Given the description of an element on the screen output the (x, y) to click on. 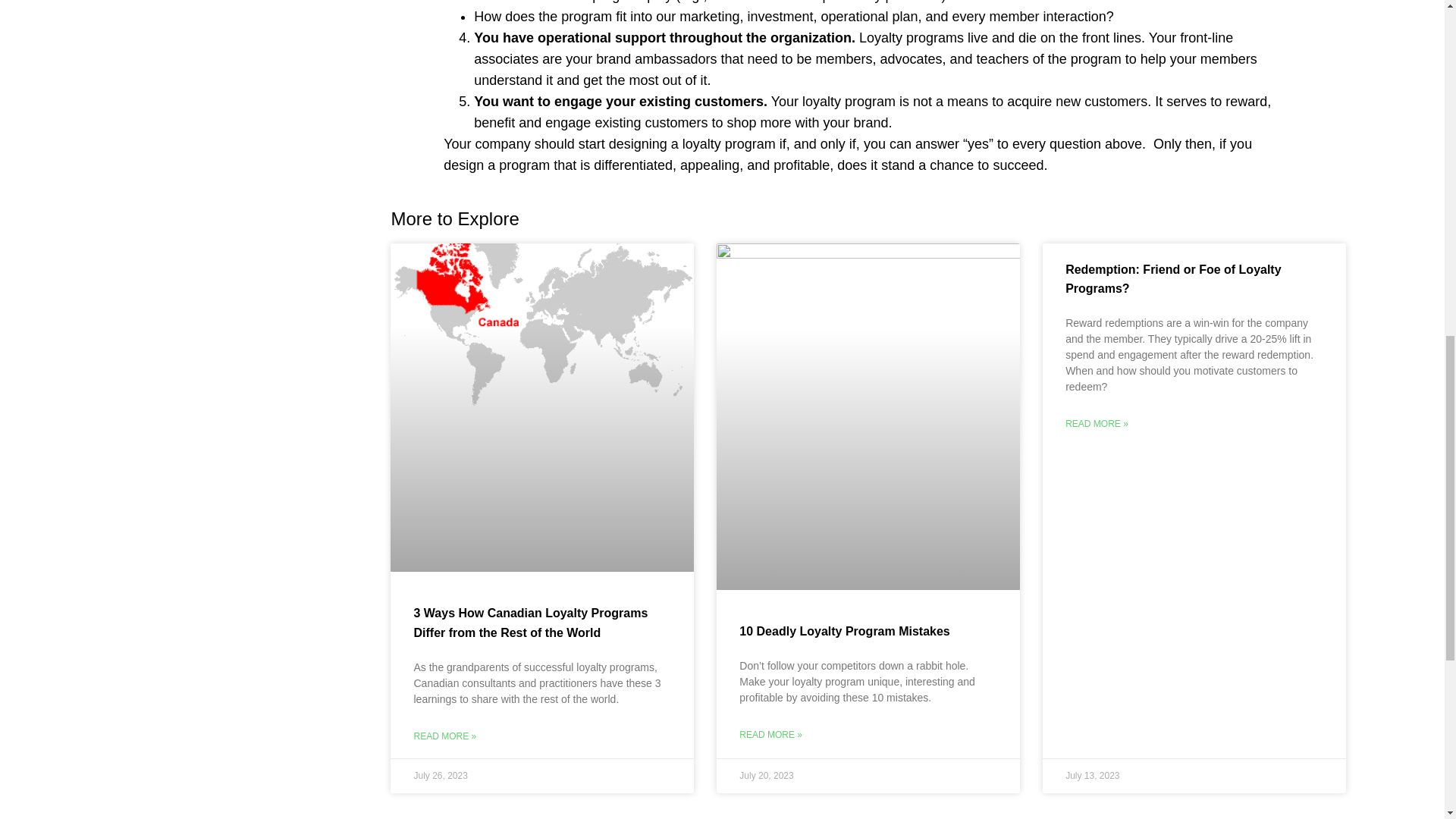
10 Deadly Loyalty Program Mistakes (844, 631)
Redemption: Friend or Foe of Loyalty Programs? (1173, 278)
